Given the description of an element on the screen output the (x, y) to click on. 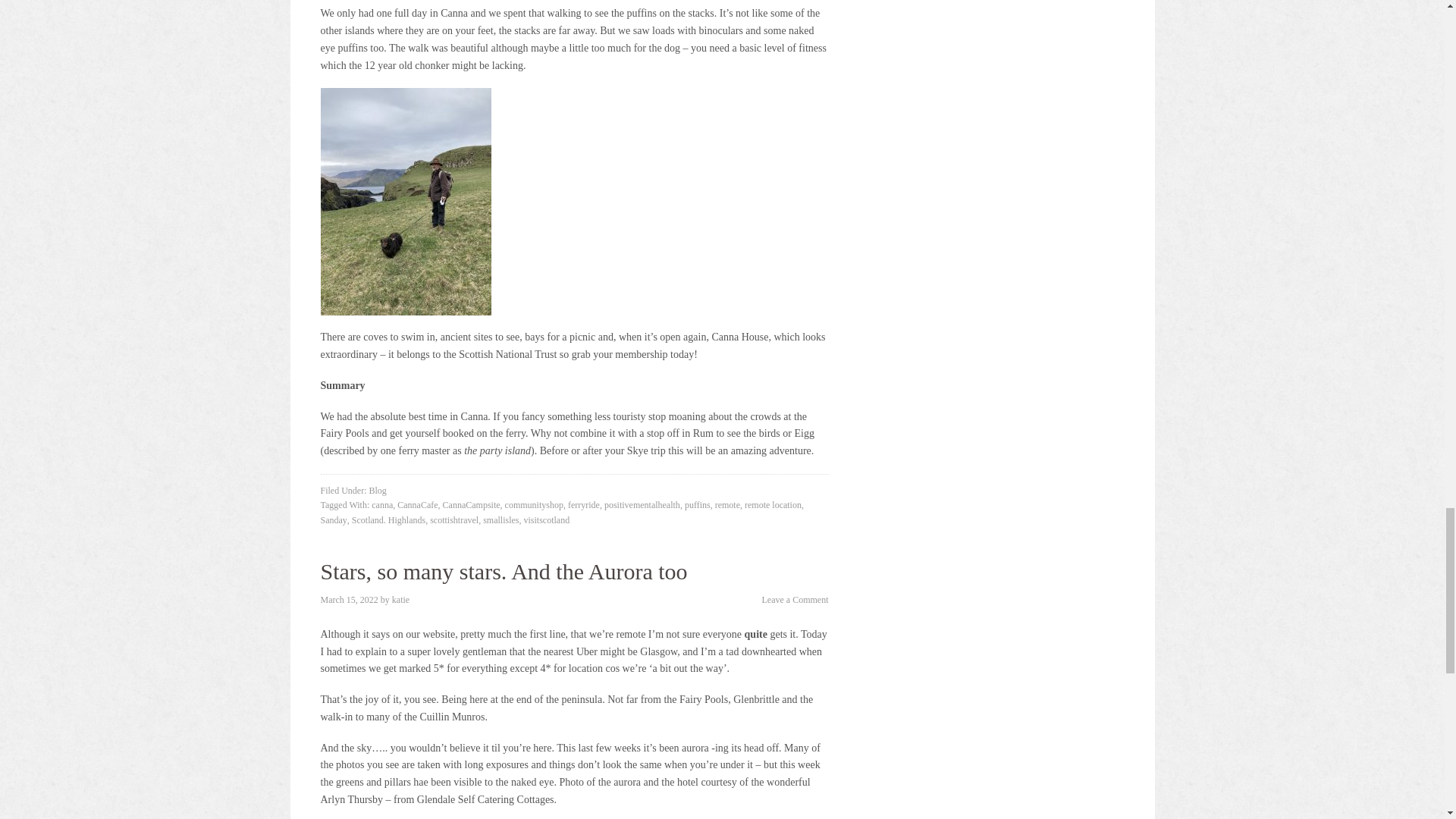
ferryride (583, 504)
CannaCafe (417, 504)
CannaCampsite (471, 504)
communityshop (534, 504)
canna (382, 504)
remote location (773, 504)
Scotland. Highlands (388, 520)
Blog (376, 490)
Sanday (333, 520)
positivementalhealth (641, 504)
visitscotland (545, 520)
remote (726, 504)
scottishtravel (454, 520)
smallisles (500, 520)
puffins (697, 504)
